Given the description of an element on the screen output the (x, y) to click on. 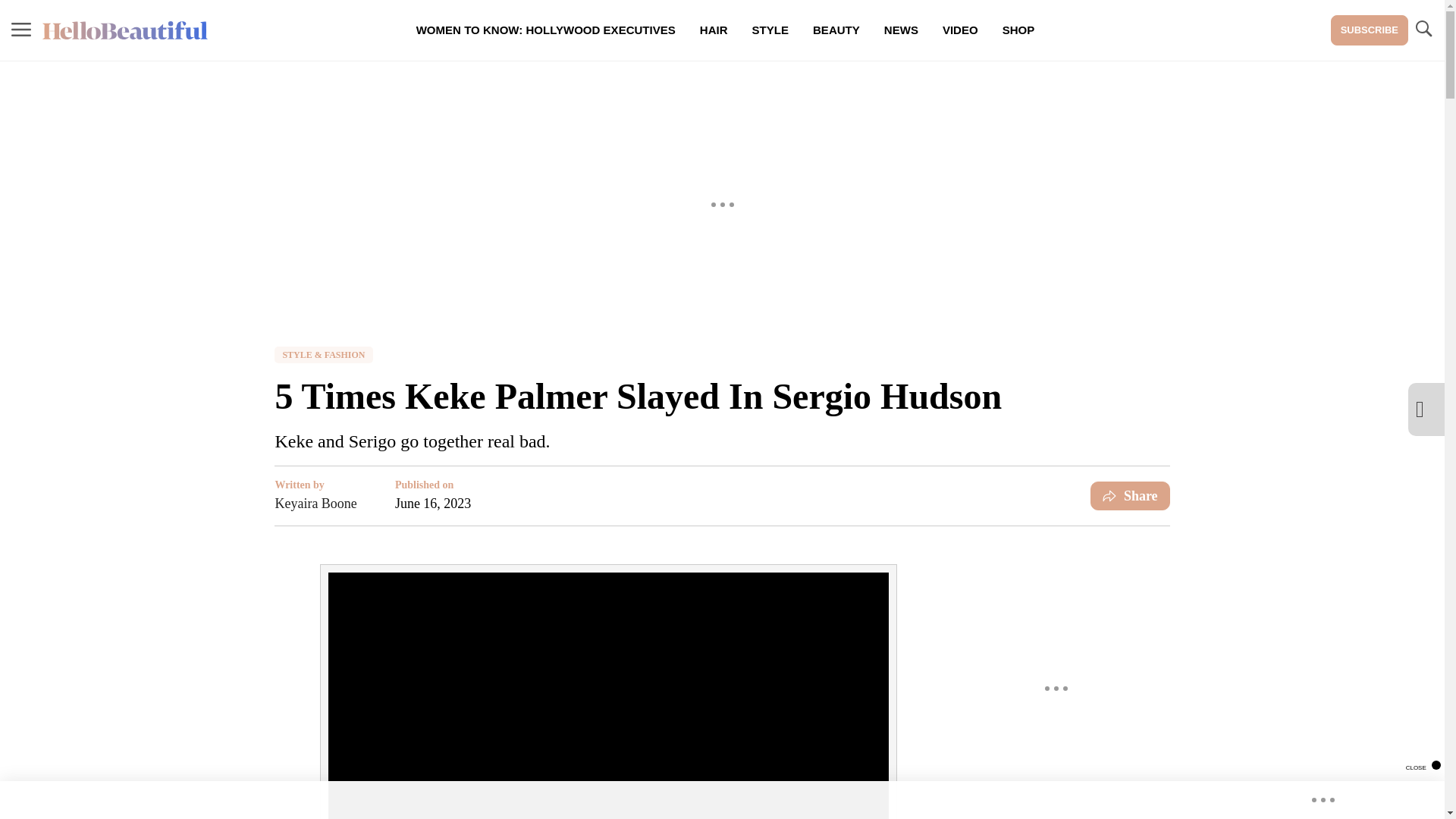
STYLE (769, 30)
NEWS (901, 30)
Keyaira Boone (315, 503)
HAIR (713, 30)
TOGGLE SEARCH (1422, 30)
BEAUTY (836, 30)
MENU (20, 30)
Share (1130, 495)
VIDEO (960, 30)
MENU (20, 29)
